Given the description of an element on the screen output the (x, y) to click on. 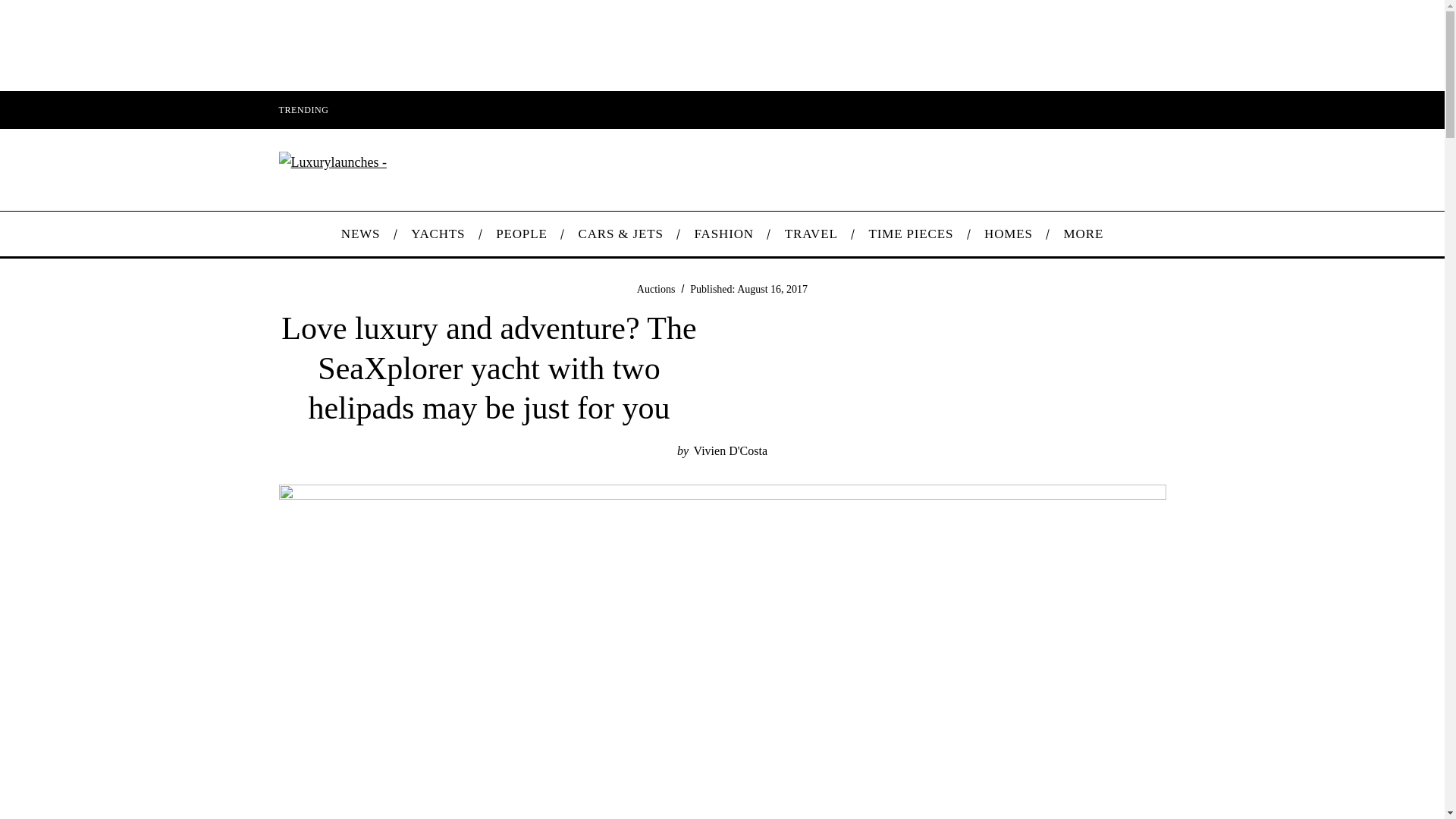
YACHTS (438, 233)
Vivien D'Costa (730, 450)
HOMES (1008, 233)
PEOPLE (521, 233)
MORE (1083, 233)
TRAVEL (810, 233)
TIME PIECES (911, 233)
Auctions (656, 288)
FASHION (723, 233)
TRENDING (302, 109)
